Given the description of an element on the screen output the (x, y) to click on. 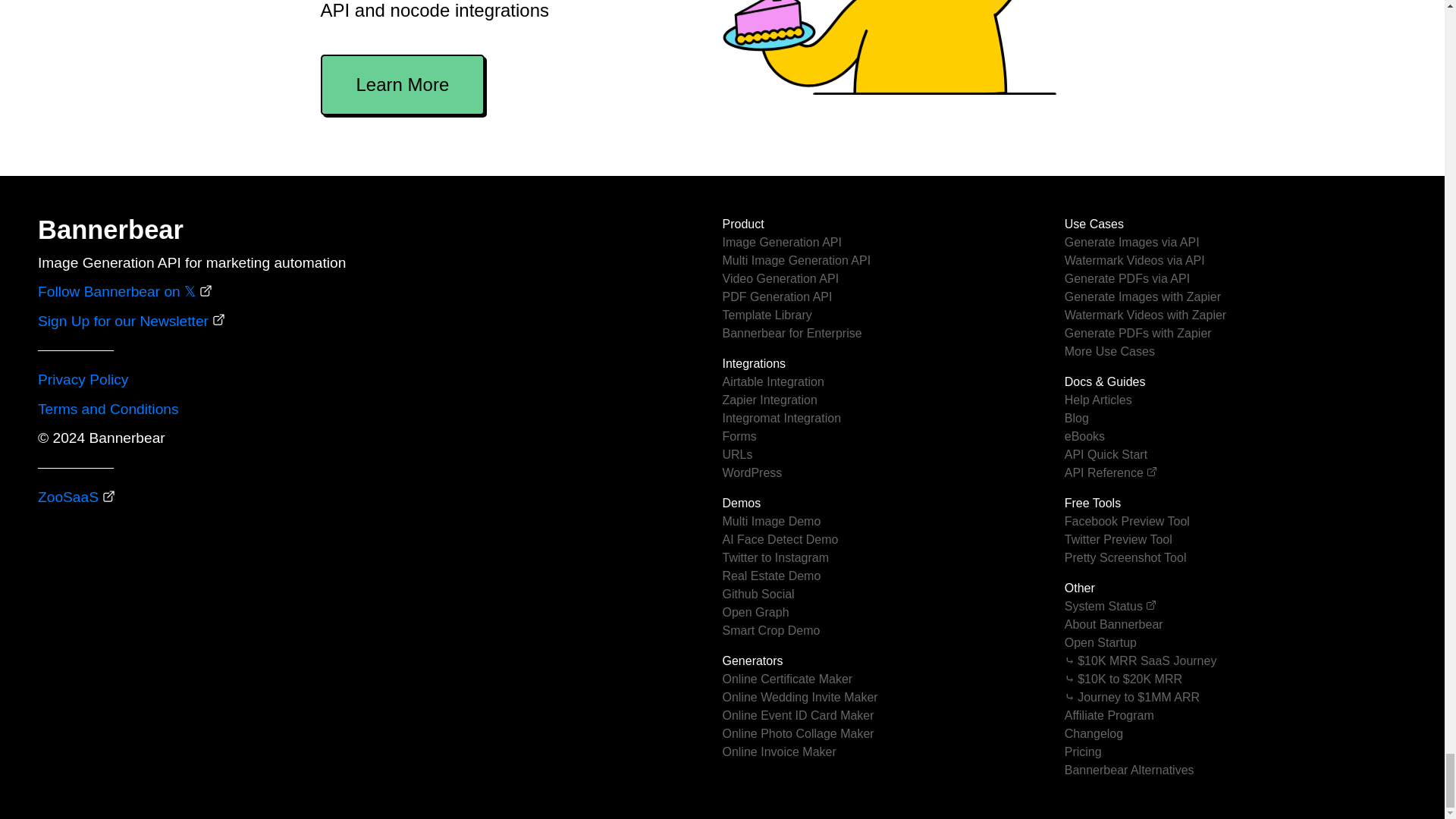
Pretty Screenshots Tool (1125, 557)
Facebook Open Graph Preview Tool (1126, 521)
Twitter Card Preview Tool (1118, 539)
